Given the description of an element on the screen output the (x, y) to click on. 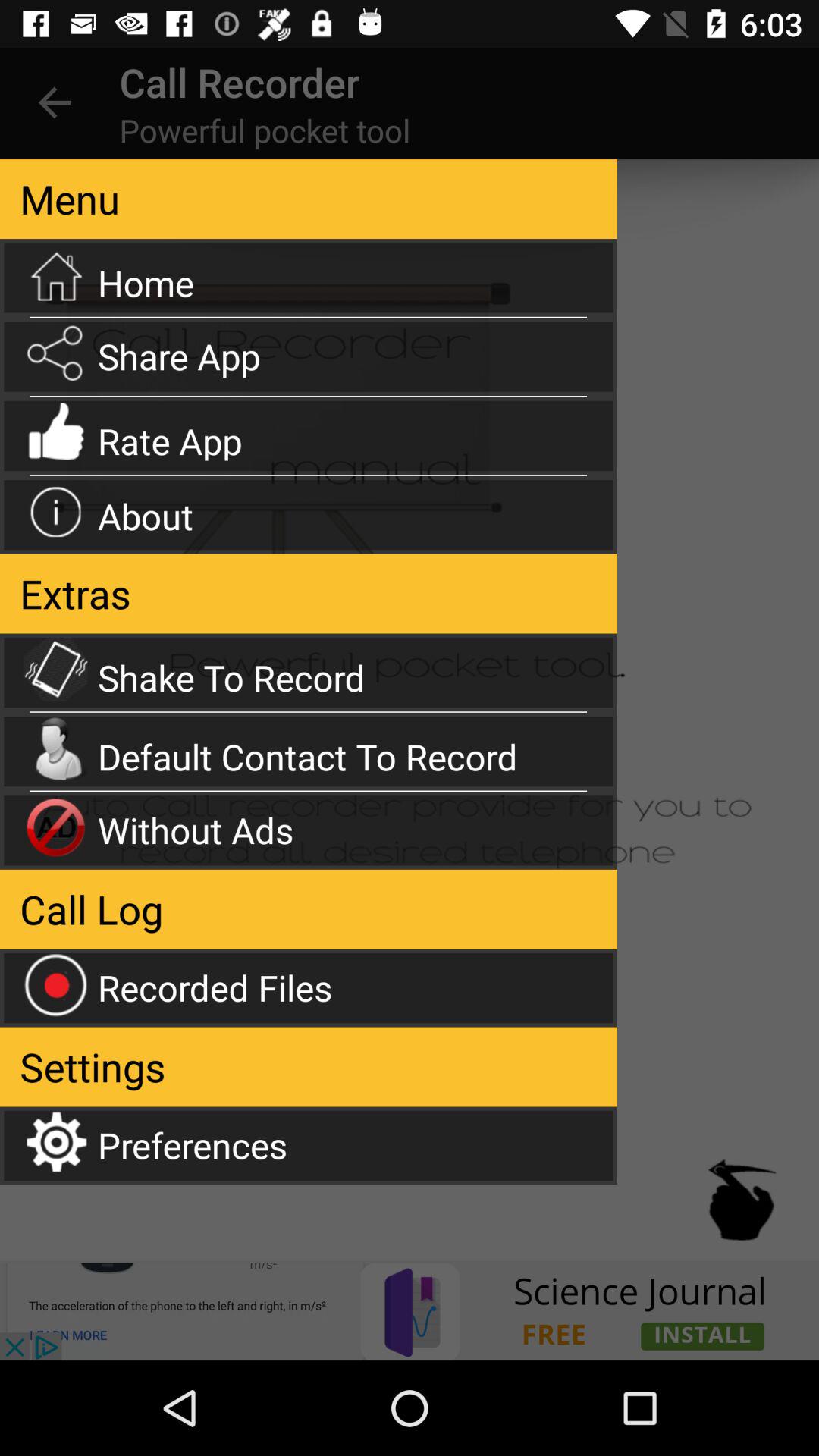
select the item to the left of call recorder icon (55, 103)
